Given the description of an element on the screen output the (x, y) to click on. 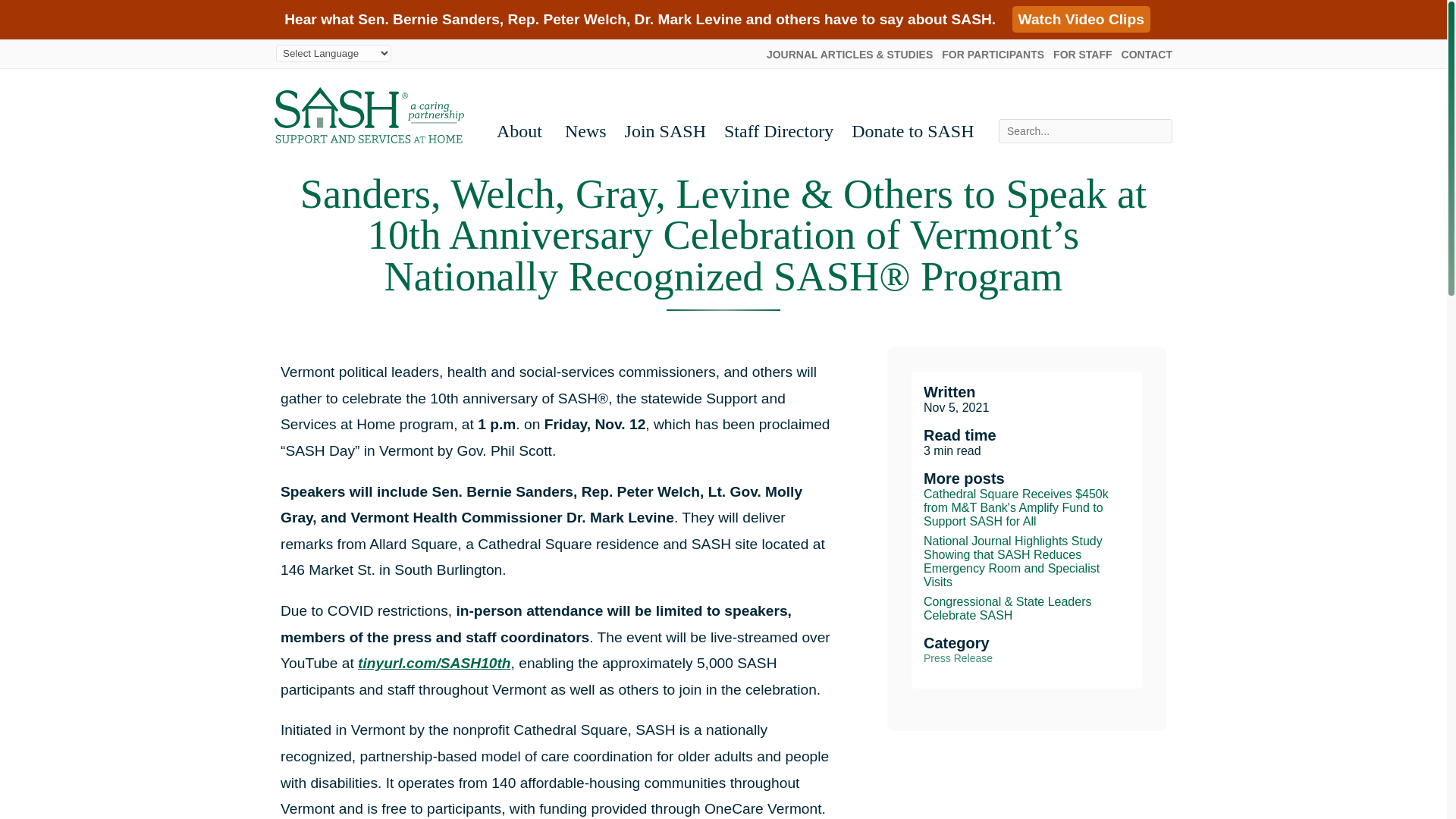
About (521, 131)
Join SASH (665, 131)
News (585, 131)
FOR PARTICIPANTS (992, 54)
CONTACT (1146, 54)
Watch Video Clips (1080, 18)
Donate to SASH (912, 131)
FOR STAFF (1082, 54)
Staff Directory (777, 131)
Return Home (369, 114)
